Given the description of an element on the screen output the (x, y) to click on. 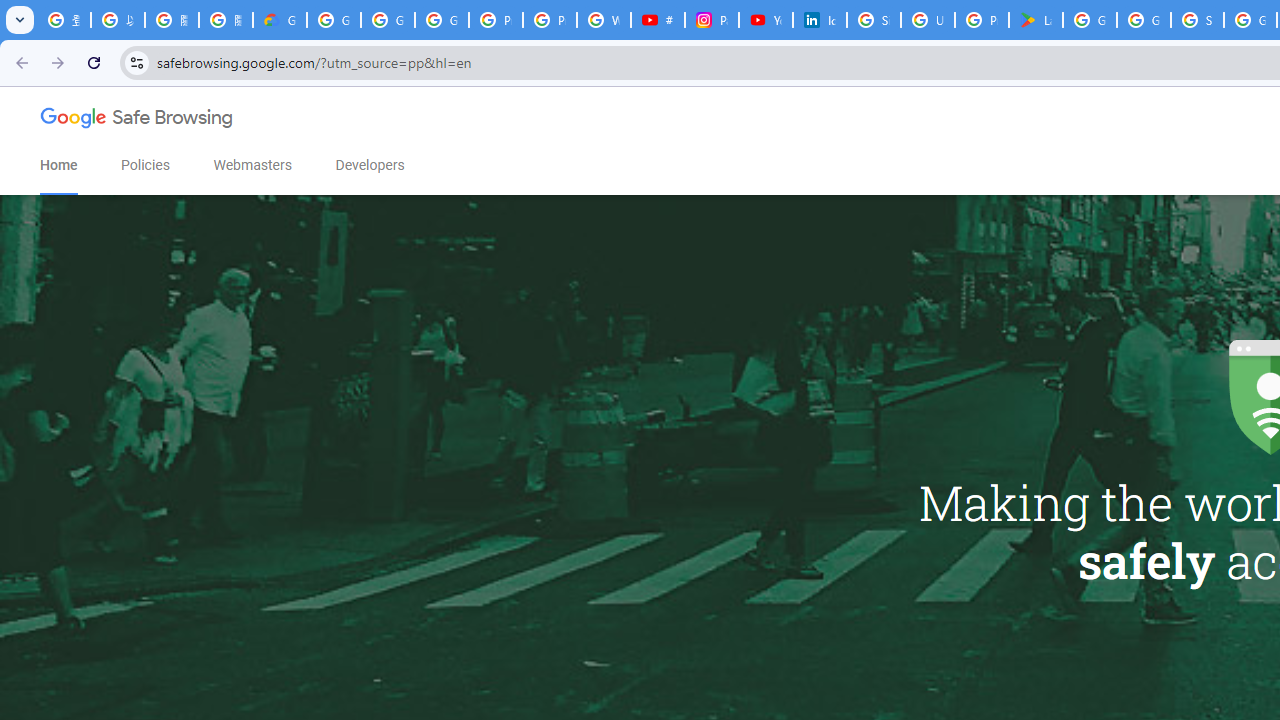
Policies (145, 165)
Last Shelter: Survival - Apps on Google Play (1035, 20)
